Given the description of an element on the screen output the (x, y) to click on. 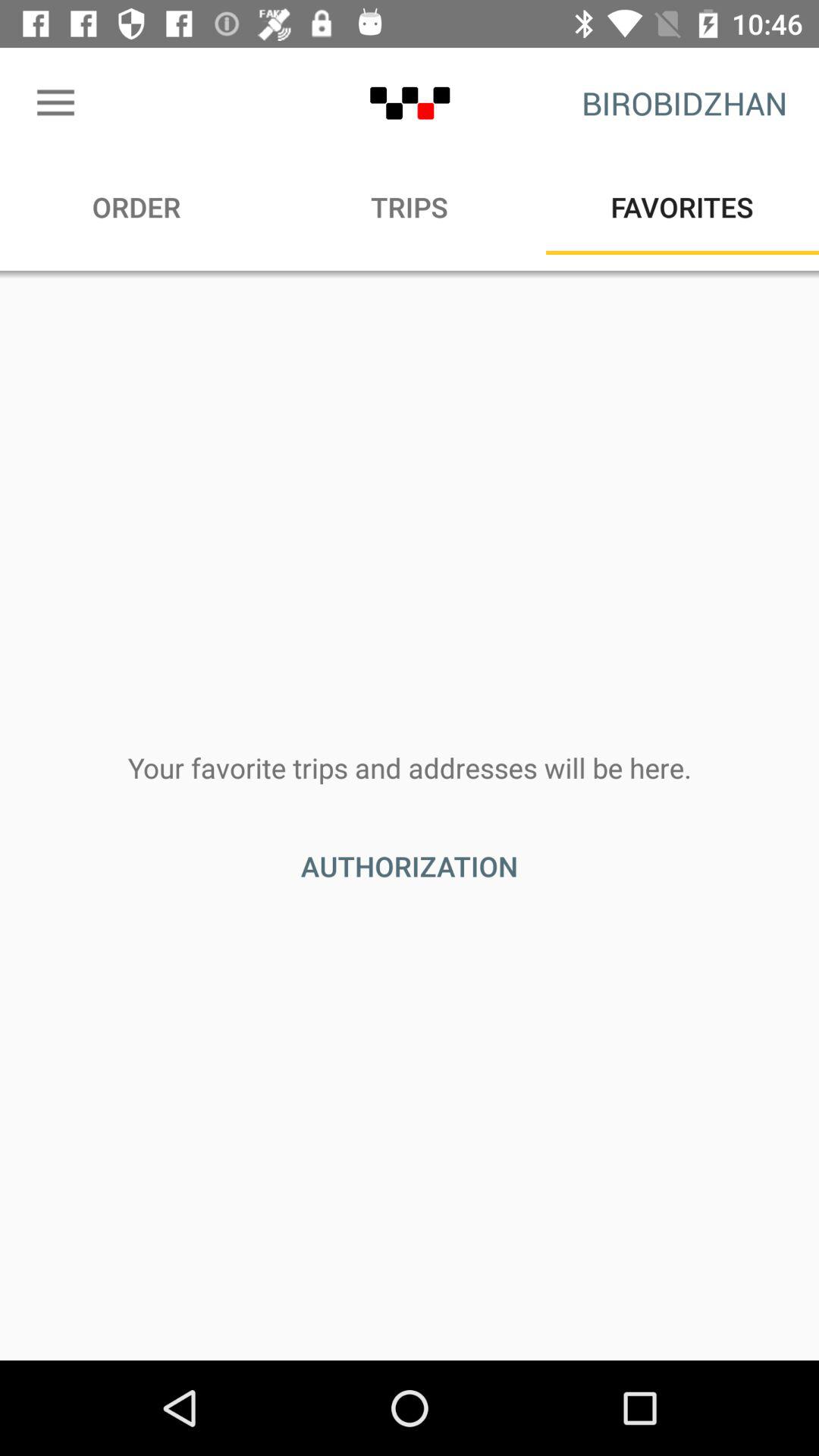
swipe until the birobidzhan (684, 102)
